Given the description of an element on the screen output the (x, y) to click on. 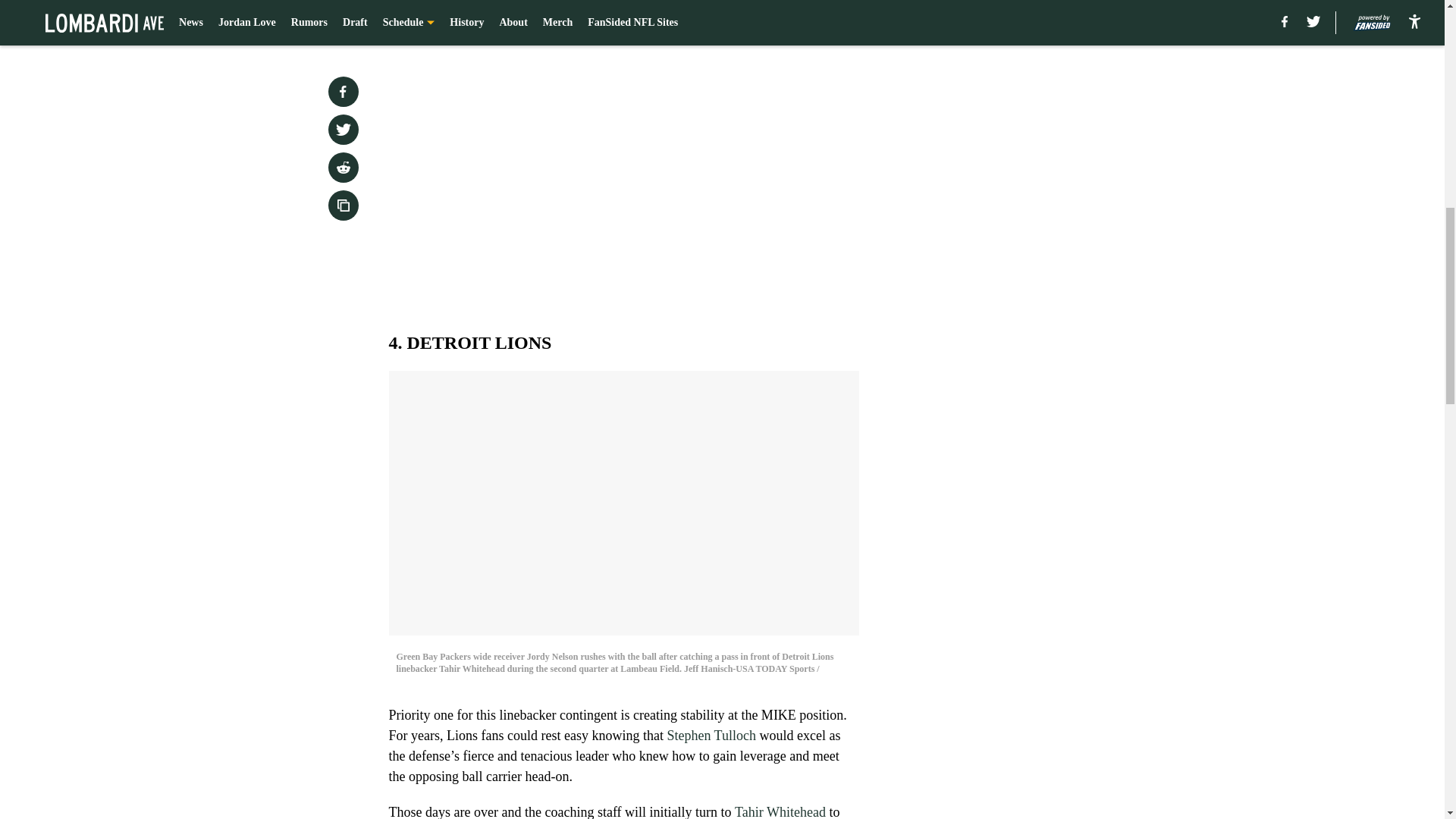
Prev (433, 20)
Tahir Whitehead (780, 811)
Next (813, 20)
Stephen Tulloch (710, 735)
